Given the description of an element on the screen output the (x, y) to click on. 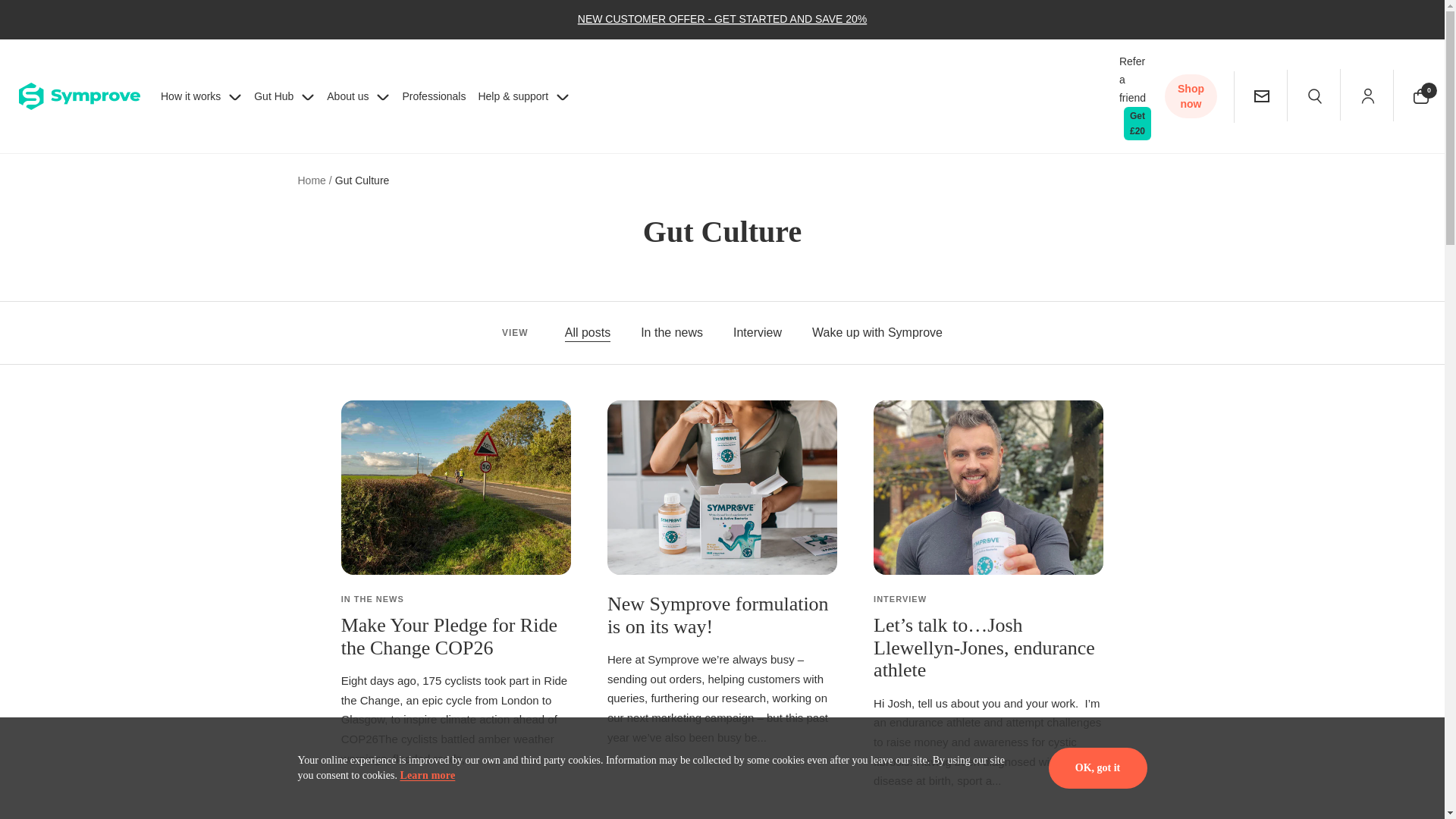
Show articles tagged Wake up with Symprove (877, 332)
About us (358, 90)
In the news (671, 332)
INTERVIEW (899, 598)
Symprove UK (78, 96)
Cookie Policy (426, 775)
All posts (587, 332)
Shop now (1194, 103)
Newsletter (1262, 96)
Wake up with Symprove (877, 332)
Show articles tagged In the news (671, 332)
Make Your Pledge for Ride the Change COP26 (448, 636)
Professionals (433, 95)
IN THE NEWS (372, 598)
Show articles tagged Interview (757, 332)
